Given the description of an element on the screen output the (x, y) to click on. 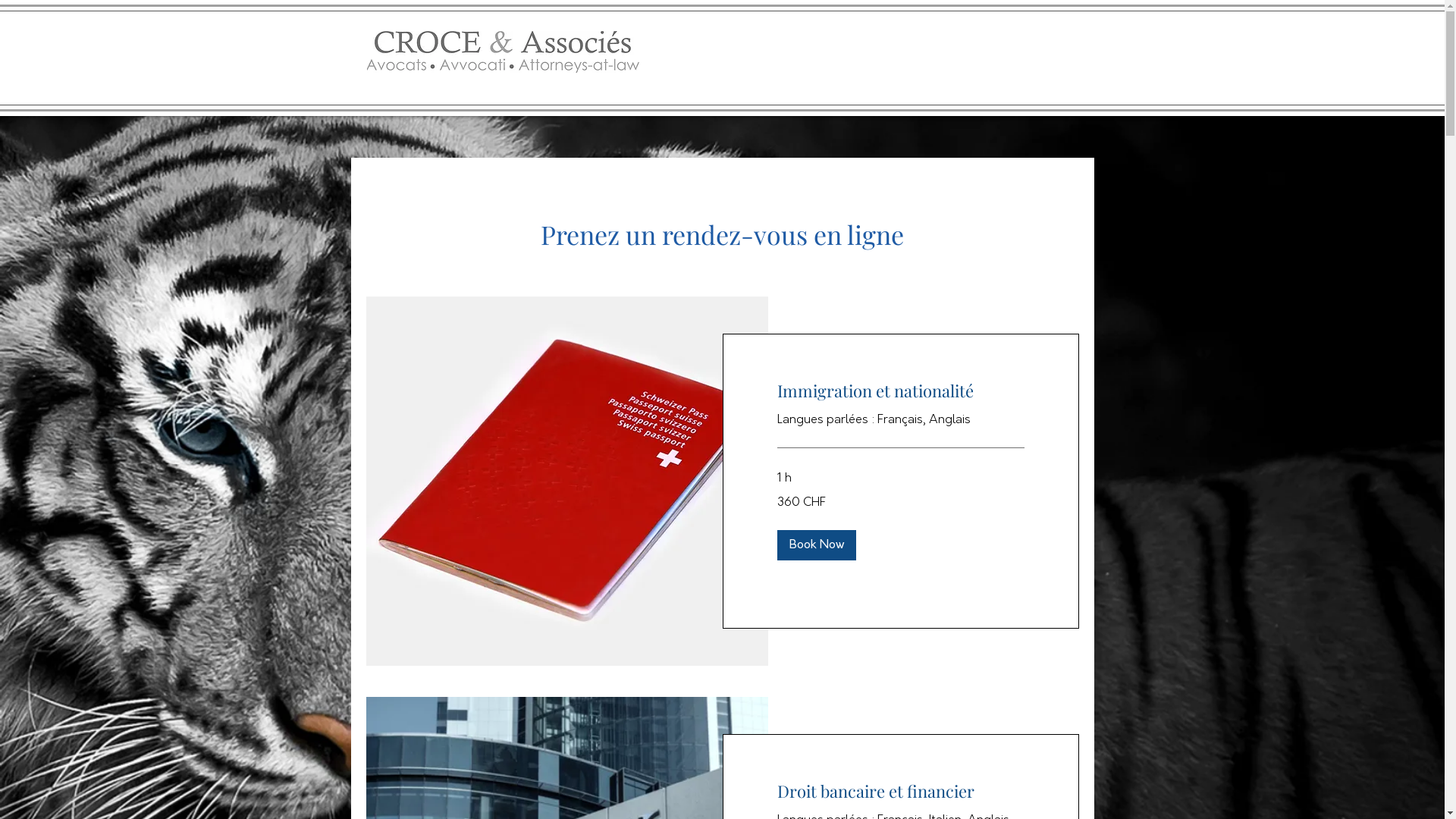
Droit bancaire et financier Element type: text (899, 790)
Book Now Element type: text (815, 544)
